Given the description of an element on the screen output the (x, y) to click on. 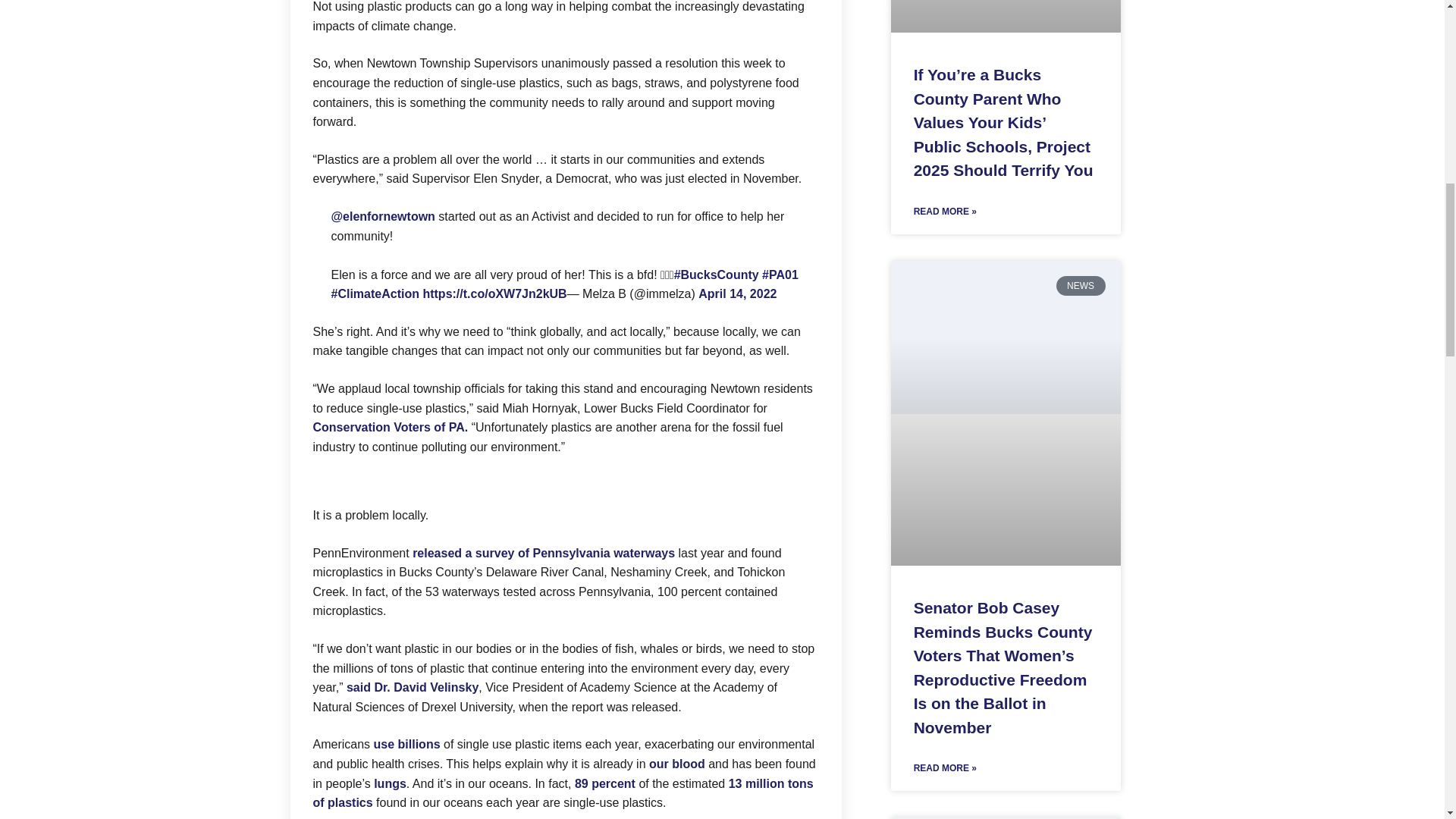
April 14, 2022 (737, 293)
89 percent (604, 783)
Conservation Voters of PA. (390, 427)
our blood (676, 763)
lungs (388, 783)
released a survey of Pennsylvania waterways (543, 553)
13 million tons of plastics (562, 793)
use billions (407, 744)
said Dr. David Velinsky (412, 686)
